Given the description of an element on the screen output the (x, y) to click on. 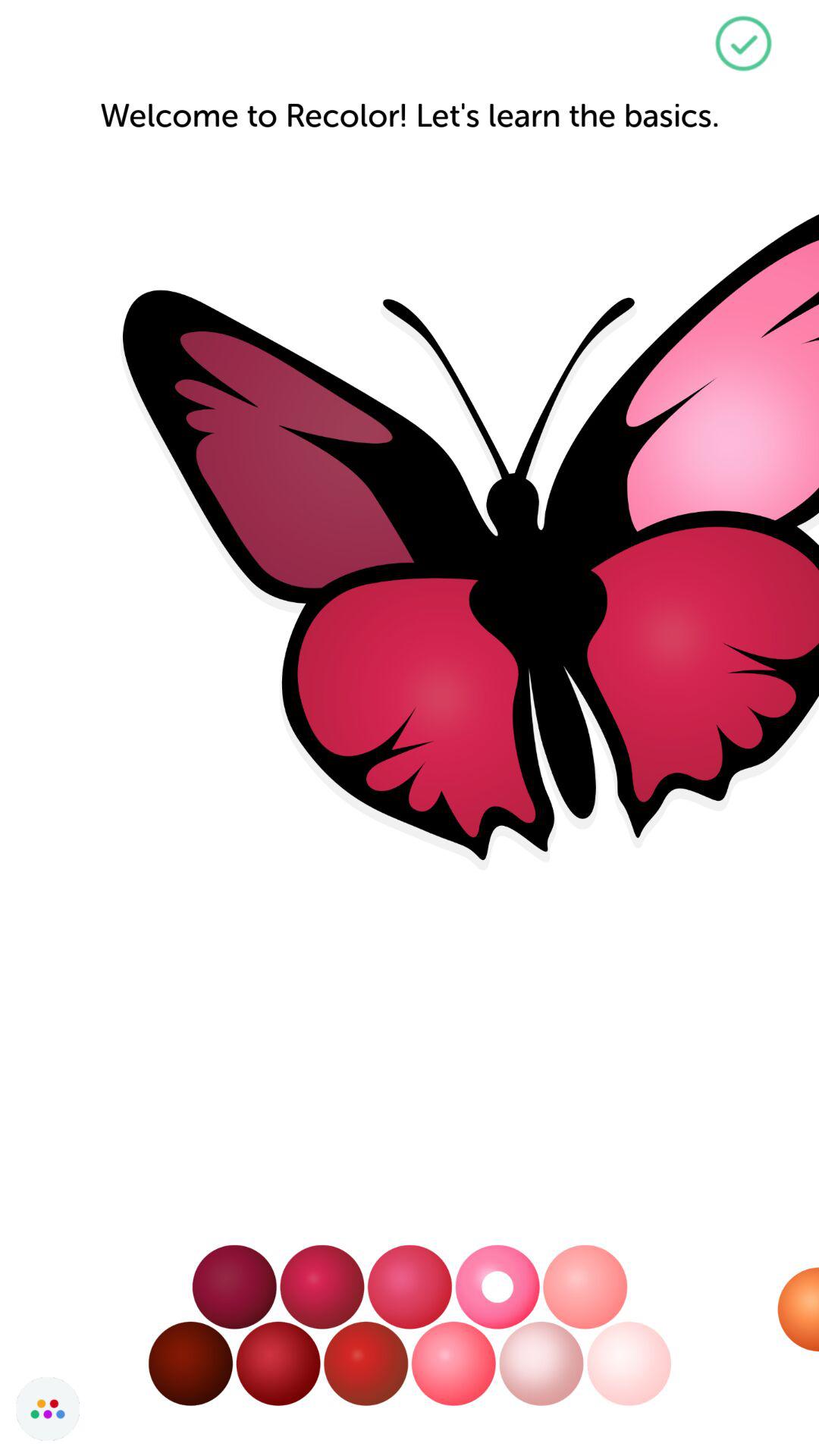
select this image (743, 43)
